Given the description of an element on the screen output the (x, y) to click on. 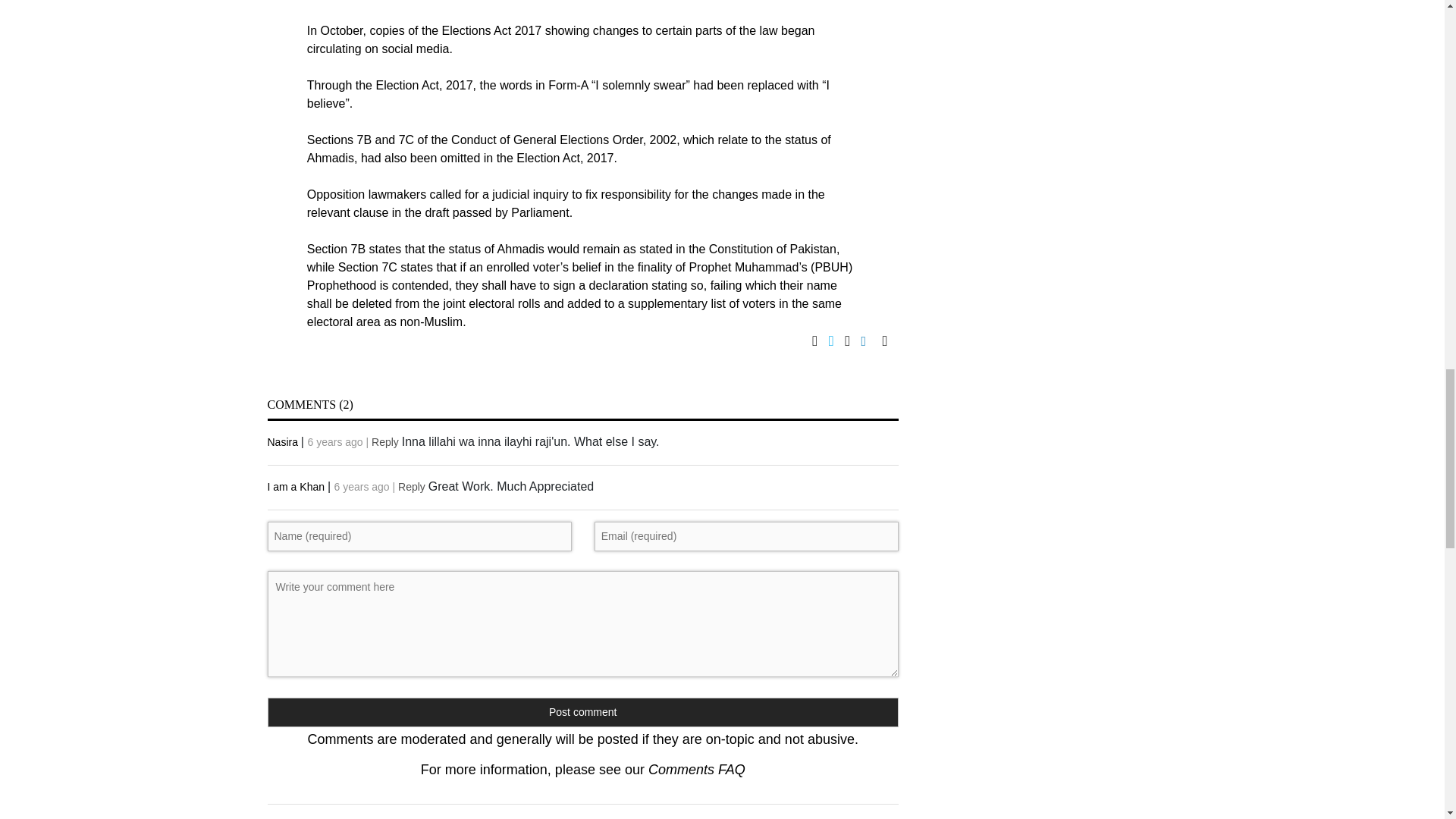
linkded (871, 341)
Post comment (582, 712)
Comments FAQ (696, 769)
Post comment (582, 712)
